Given the description of an element on the screen output the (x, y) to click on. 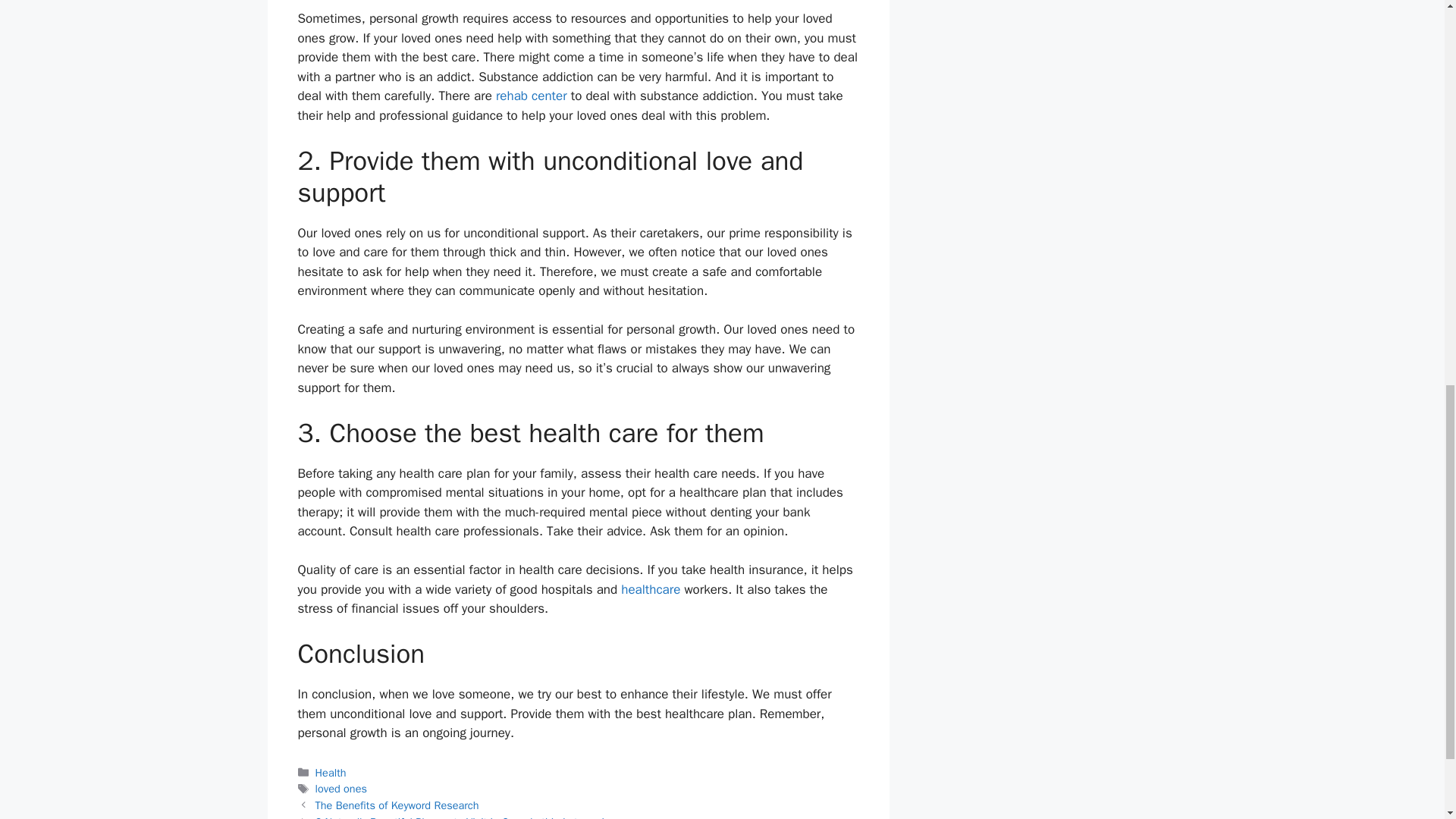
The Benefits of Keyword Research (397, 805)
healthcare (650, 589)
loved ones (340, 788)
Health (330, 772)
rehab center (531, 95)
